Given the description of an element on the screen output the (x, y) to click on. 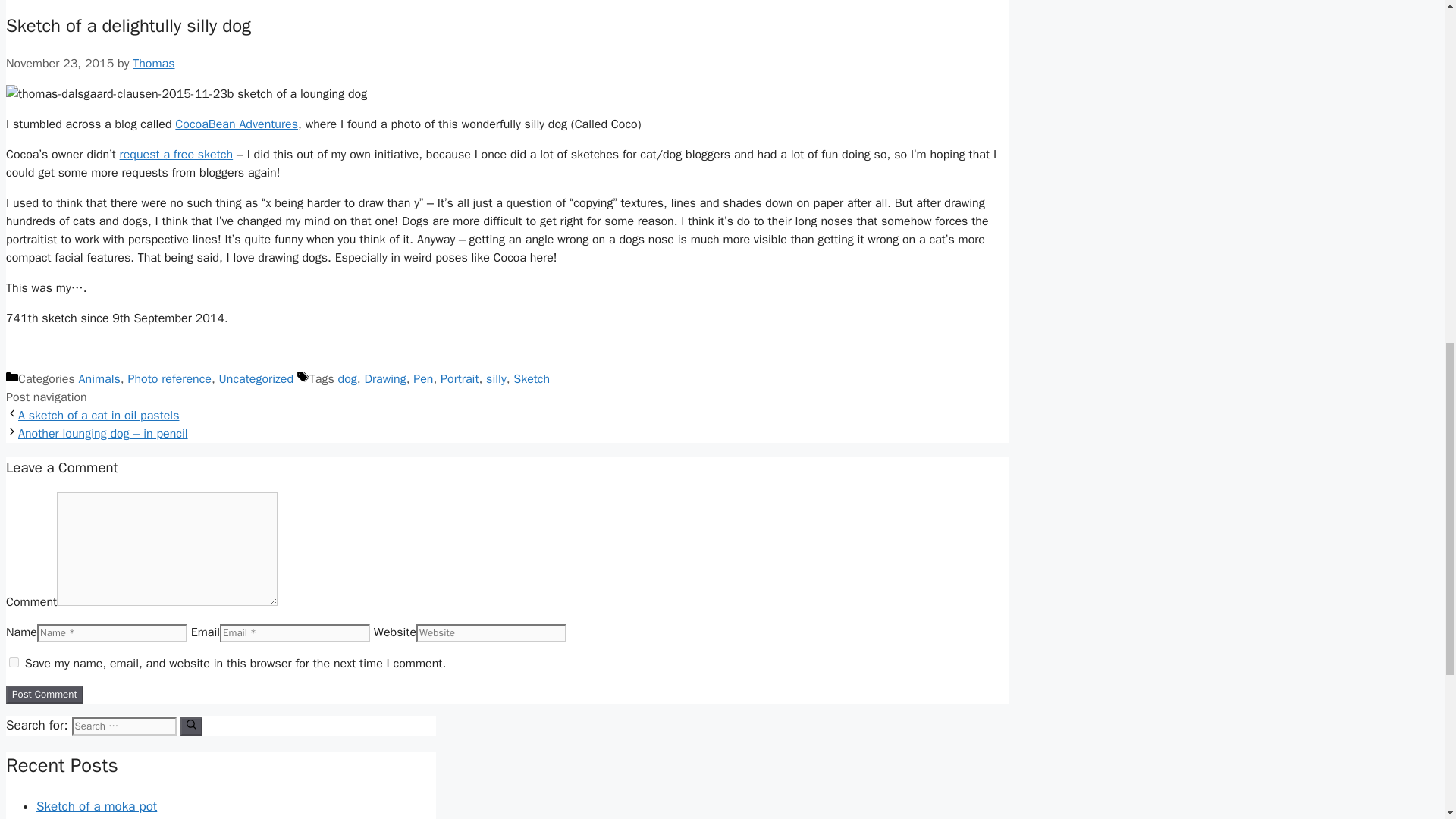
Sketch (531, 378)
dog (346, 378)
Post Comment (43, 694)
Animals (99, 378)
Next (102, 433)
Previous (98, 415)
yes (13, 662)
A sketch of a cat in oil pastels (98, 415)
Uncategorized (256, 378)
View all posts by Thomas (153, 63)
Sketch of a furry cat (92, 818)
Sketch of a moka pot (96, 806)
Post Comment (43, 694)
Portrait (460, 378)
Thomas (153, 63)
